Given the description of an element on the screen output the (x, y) to click on. 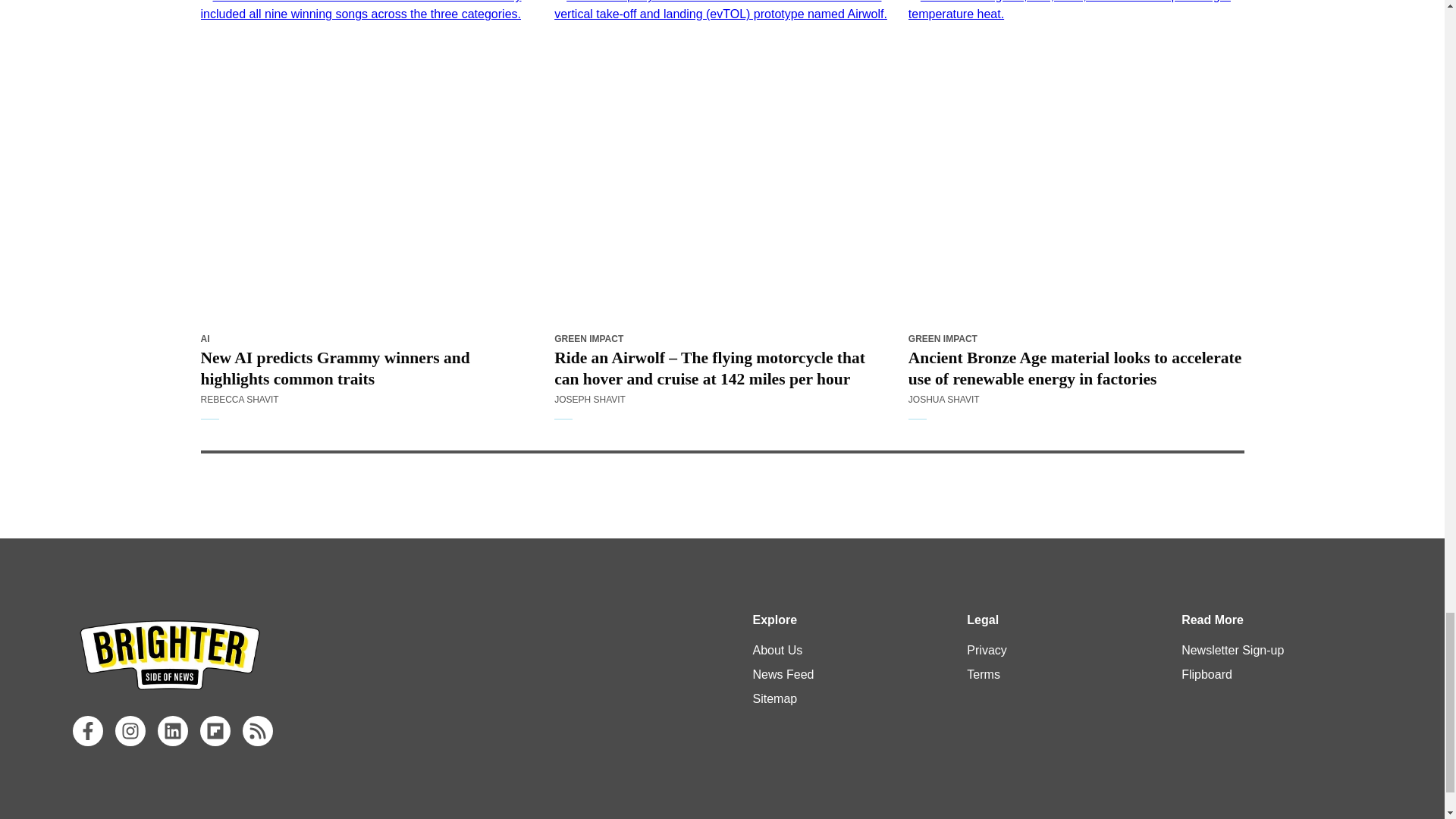
JOSHUA SHAVIT (943, 398)
Flipboard (215, 730)
New AI predicts Grammy winners and highlights common traits (367, 161)
Rss (258, 730)
GREEN IMPACT (942, 338)
JOSEPH SHAVIT (590, 398)
New AI predicts Grammy winners and highlights common traits (367, 368)
GREEN IMPACT (588, 338)
